Given the description of an element on the screen output the (x, y) to click on. 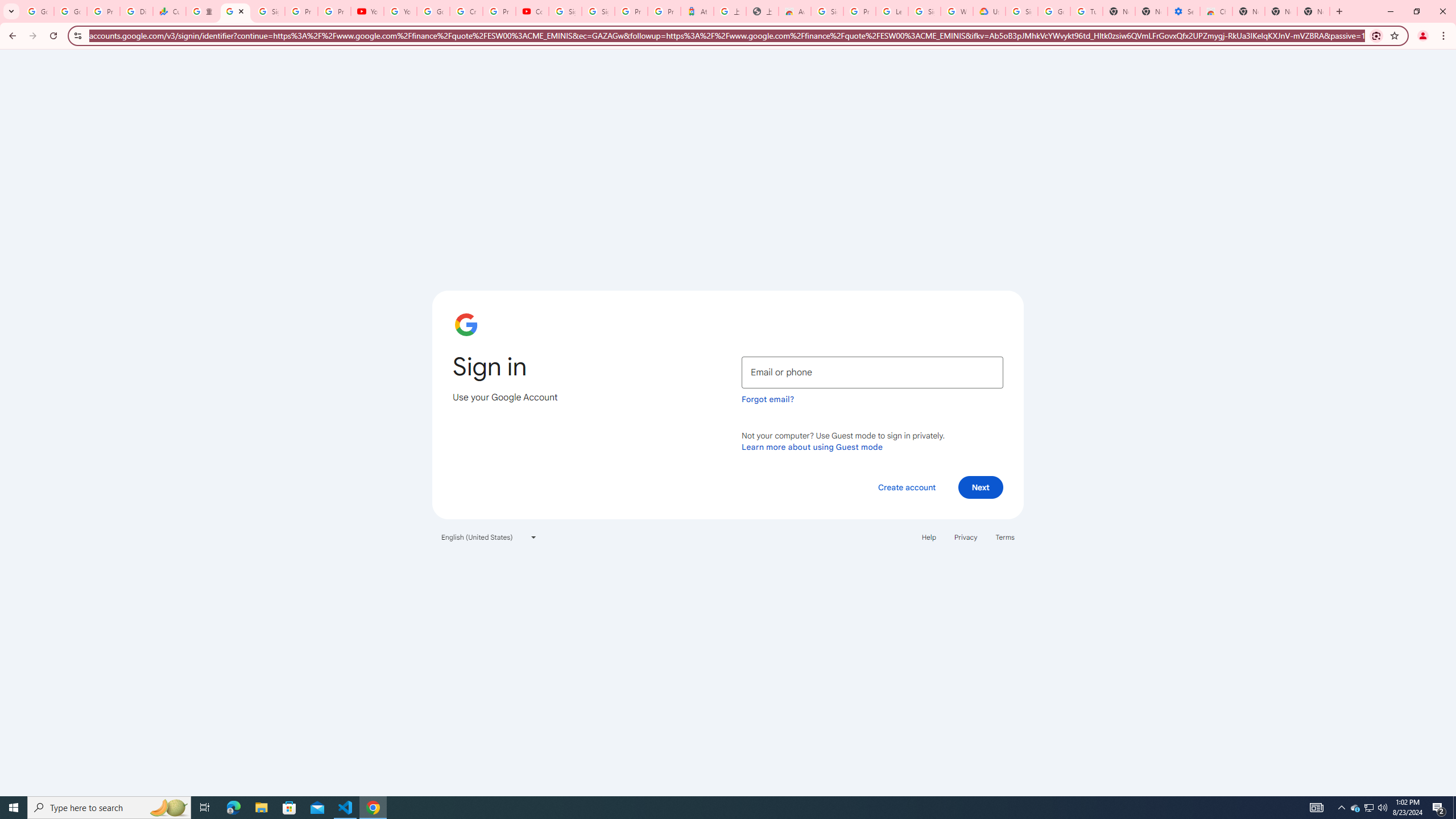
Help (928, 536)
Sign in - Google Accounts (1021, 11)
Google Account Help (1053, 11)
Terms (1005, 536)
Search with Google Lens (1376, 35)
Google Workspace Admin Community (37, 11)
Privacy (965, 536)
